Given the description of an element on the screen output the (x, y) to click on. 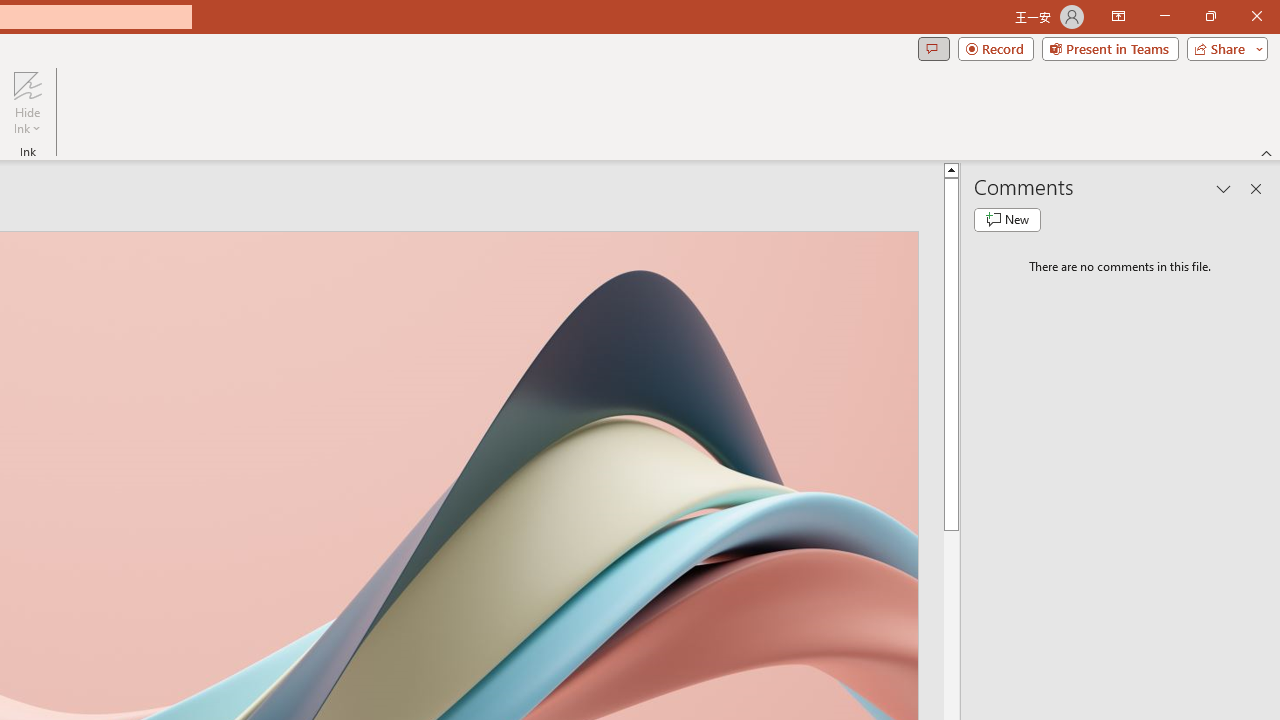
New comment (1007, 219)
